Given the description of an element on the screen output the (x, y) to click on. 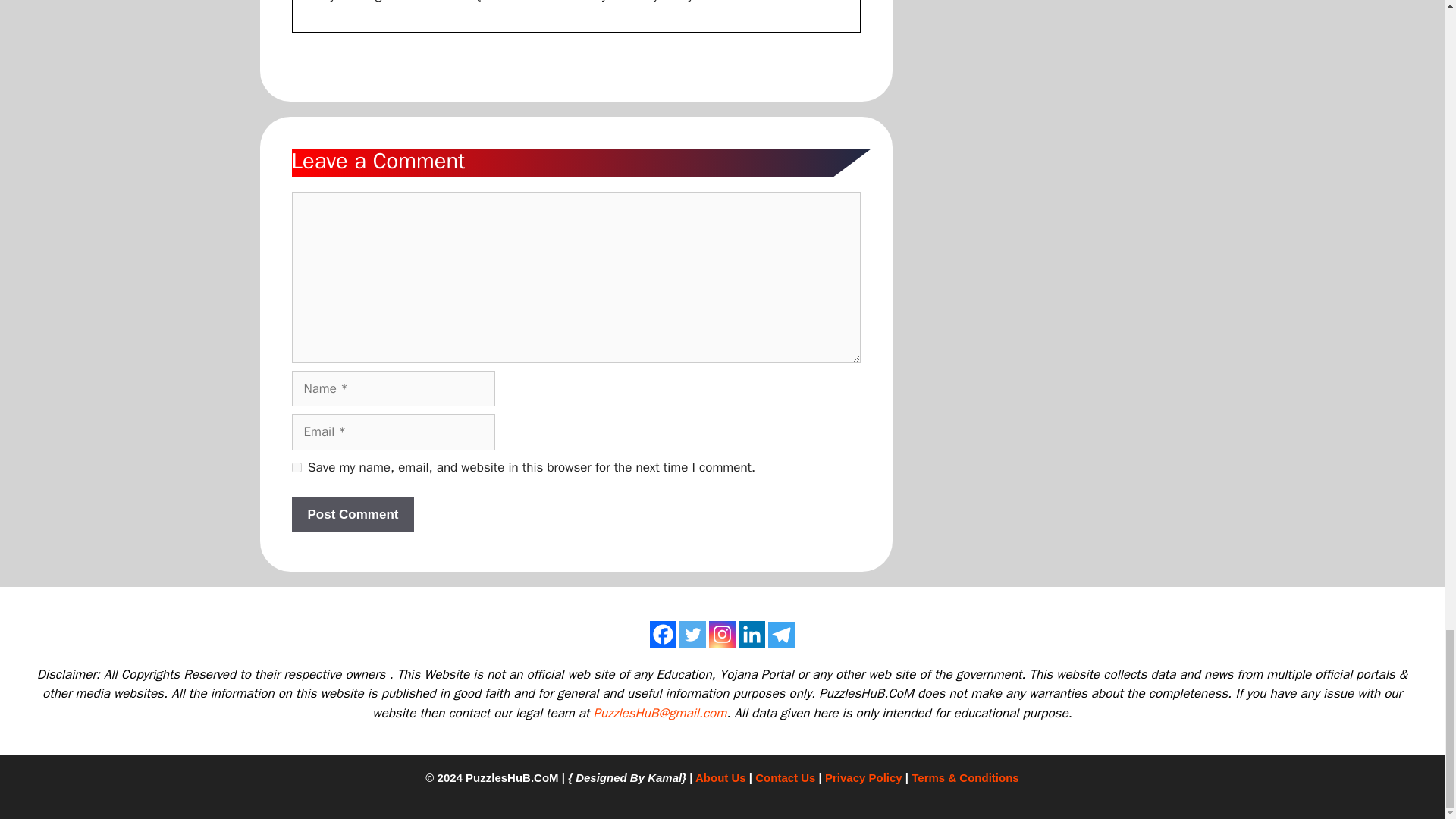
Post Comment (352, 514)
yes (296, 467)
Facebook (663, 633)
